Given the description of an element on the screen output the (x, y) to click on. 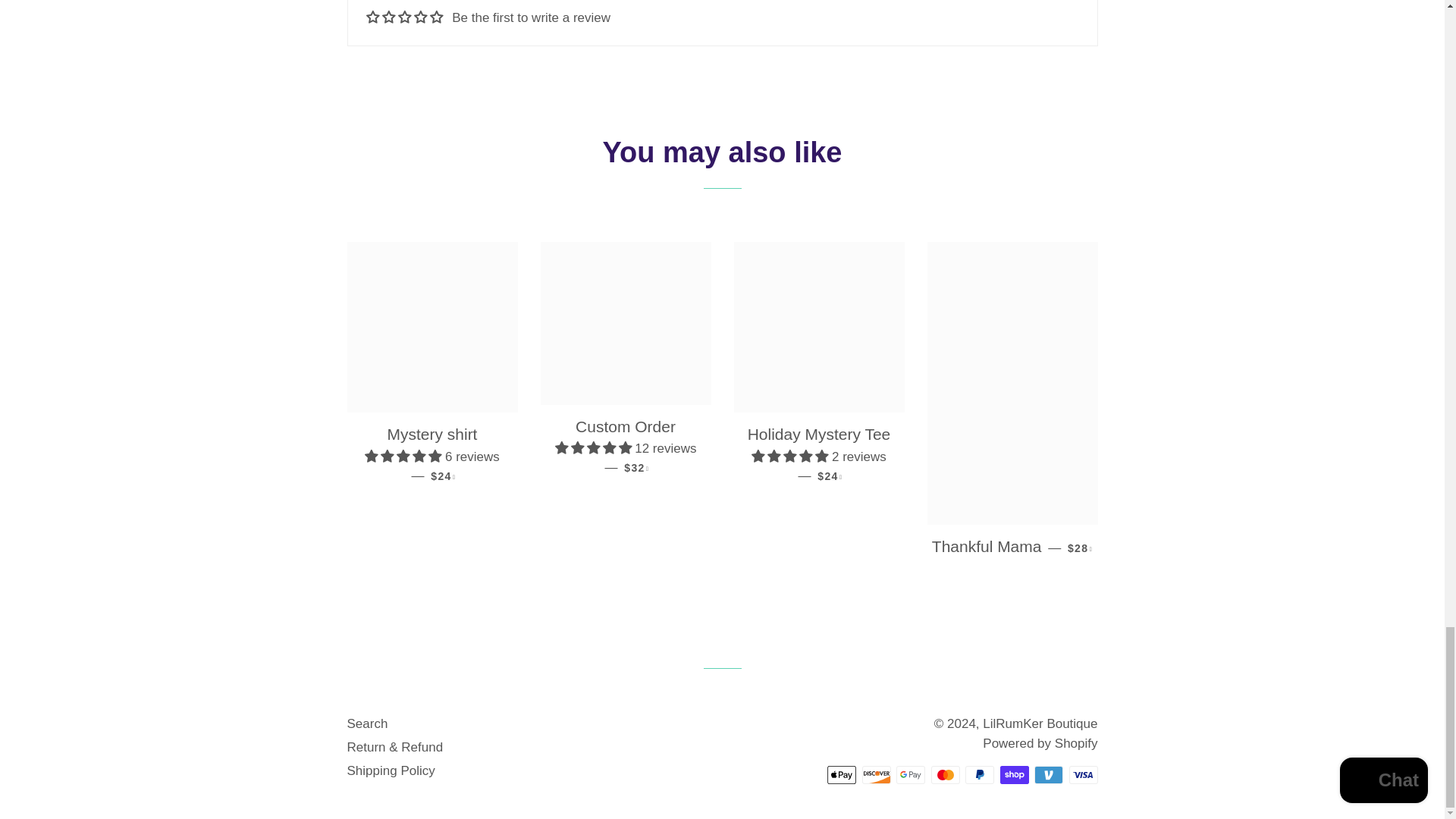
Apple Pay (841, 774)
Google Pay (910, 774)
Venmo (1047, 774)
Discover (875, 774)
Shop Pay (1012, 774)
PayPal (979, 774)
Visa (1082, 774)
Mastercard (945, 774)
